Given the description of an element on the screen output the (x, y) to click on. 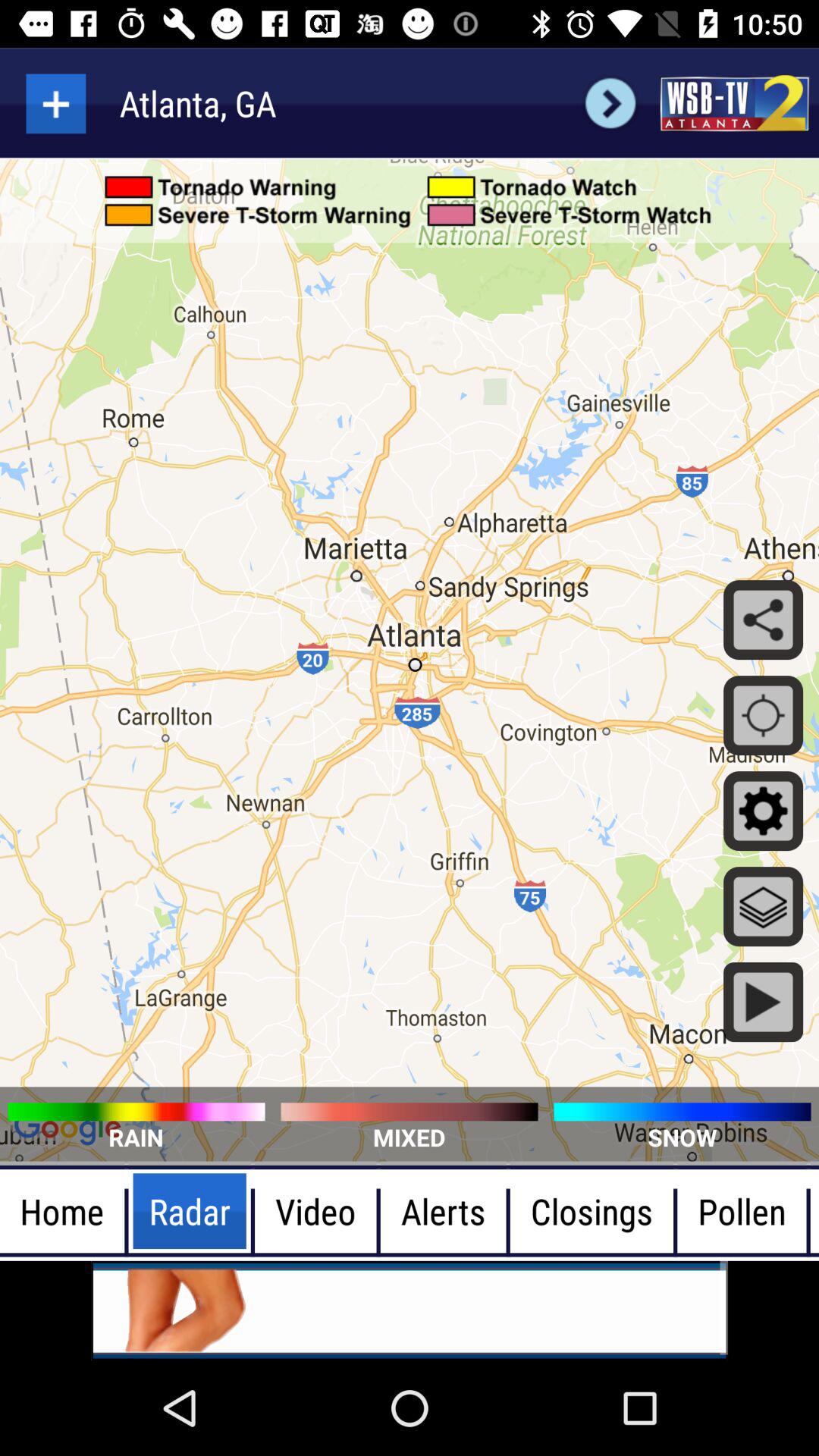
go to homepage (734, 103)
